Given the description of an element on the screen output the (x, y) to click on. 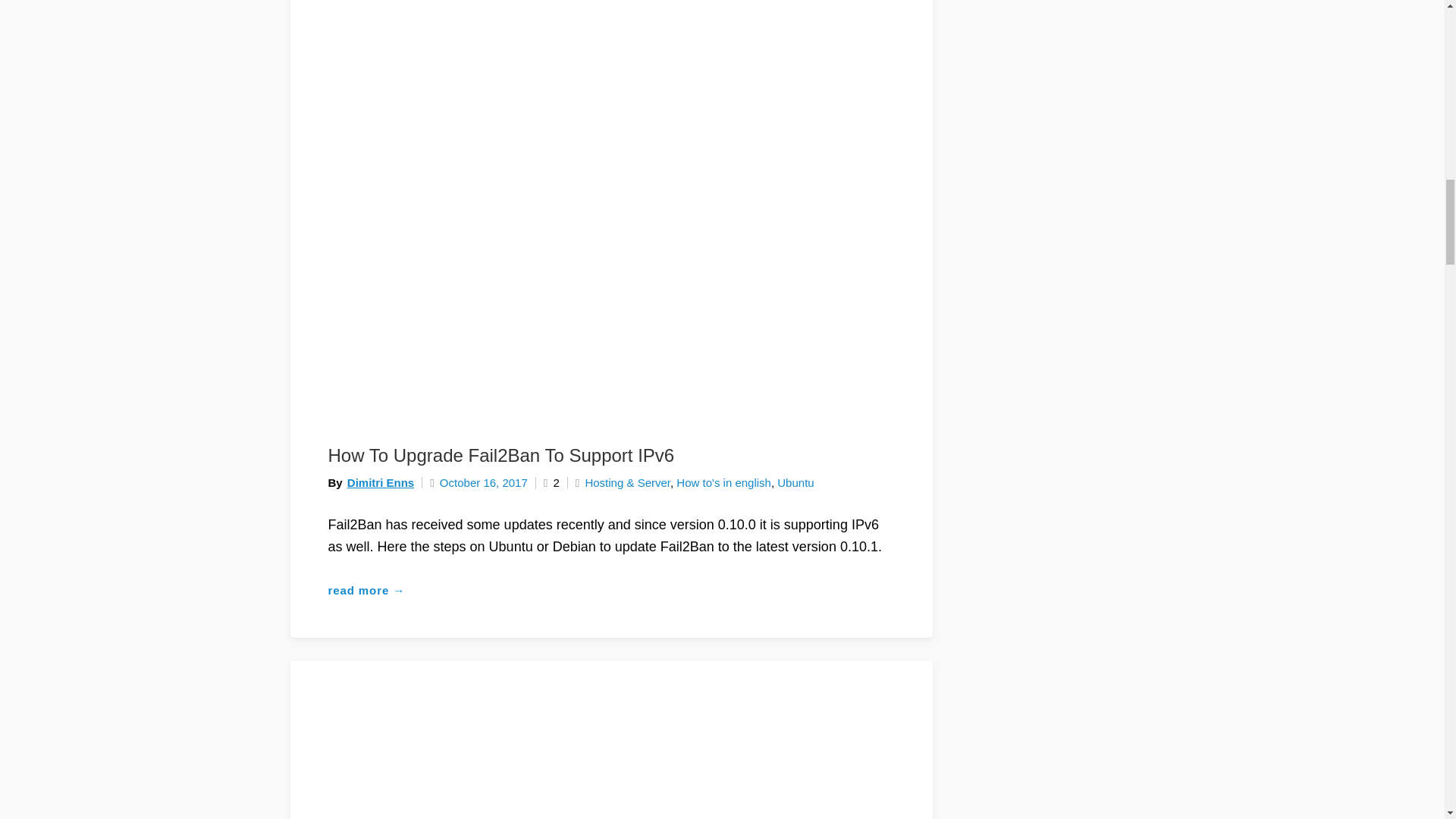
Ubuntu (795, 481)
Dimitri Enns (380, 481)
How To Upgrade Fail2Ban To Support IPv6 (500, 455)
October 16, 2017 (478, 481)
How to's in english (724, 481)
